Given the description of an element on the screen output the (x, y) to click on. 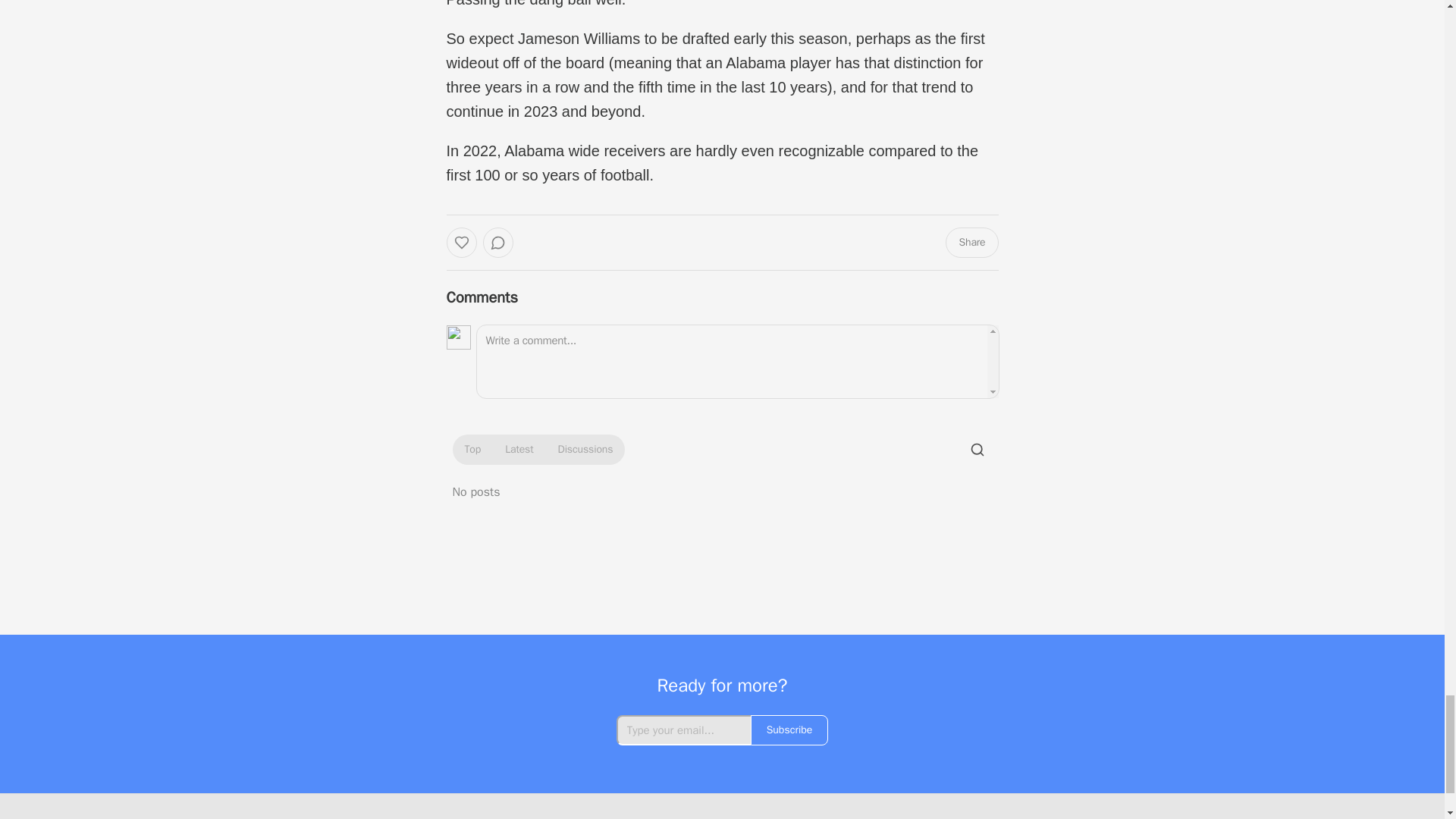
Discussions (585, 449)
Share (970, 242)
Latest (518, 449)
Top (471, 449)
